Given the description of an element on the screen output the (x, y) to click on. 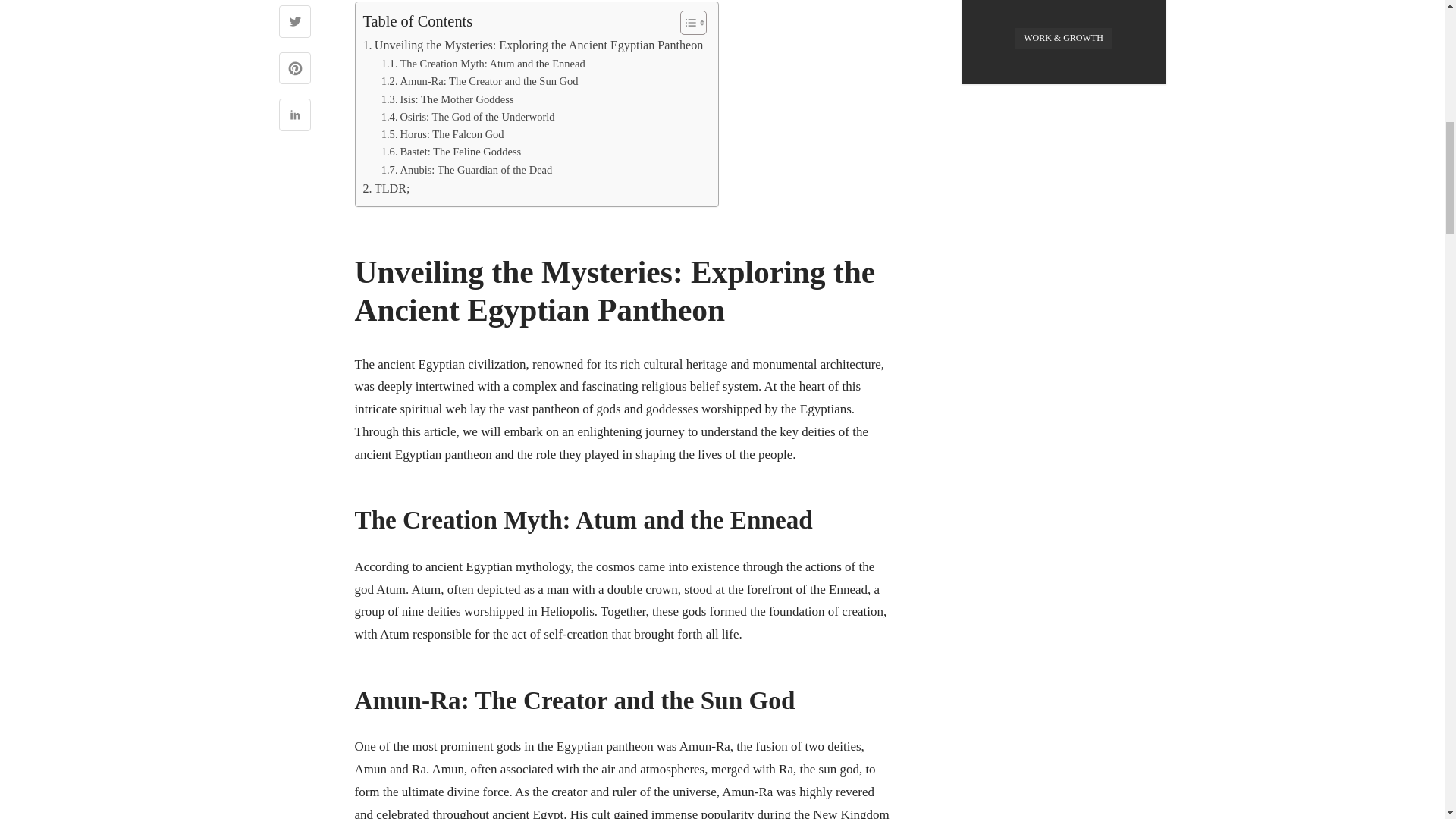
Share on Pinterest (295, 70)
Amun-Ra: The Creator and the Sun God (479, 81)
The Creation Myth: Atum and the Ennead (483, 63)
Horus: The Falcon God (442, 134)
Isis: The Mother Goddess (447, 99)
Anubis: The Guardian of the Dead (467, 170)
Osiris: The God of the Underworld (467, 117)
Bastet: The Feline Goddess (451, 151)
Share on Twitter (295, 22)
TLDR; (385, 189)
Share on Linkedin (295, 116)
